Given the description of an element on the screen output the (x, y) to click on. 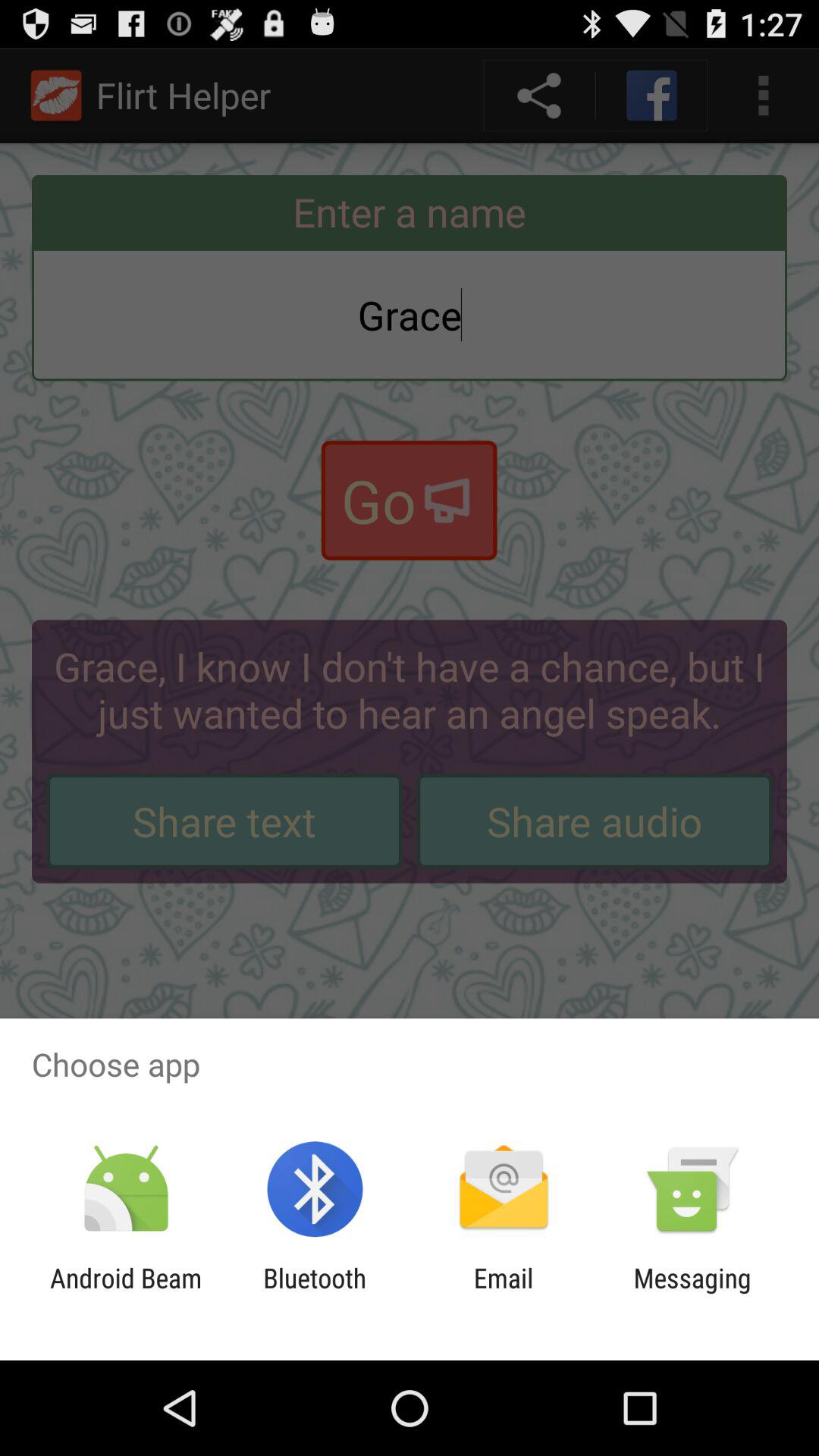
select the item to the right of the android beam (314, 1293)
